Given the description of an element on the screen output the (x, y) to click on. 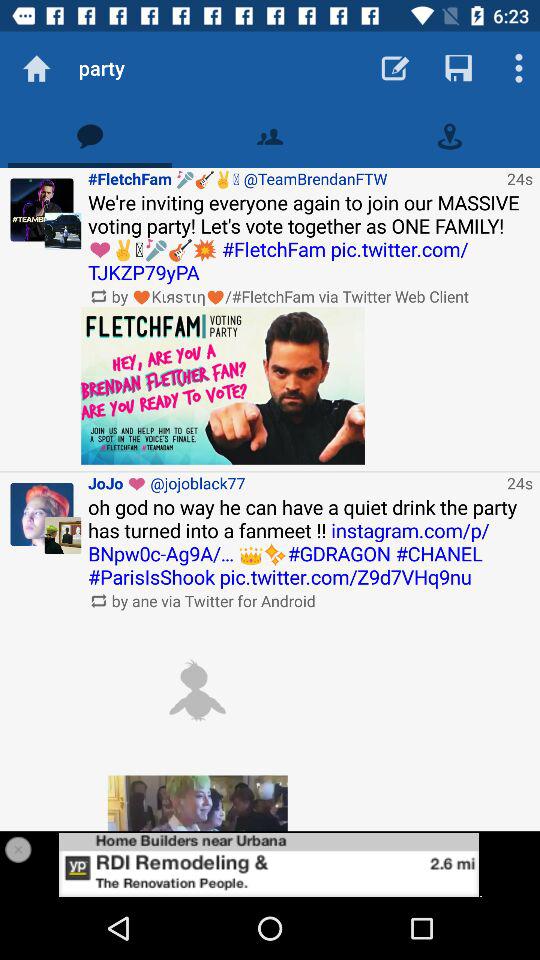
select location (450, 136)
